Given the description of an element on the screen output the (x, y) to click on. 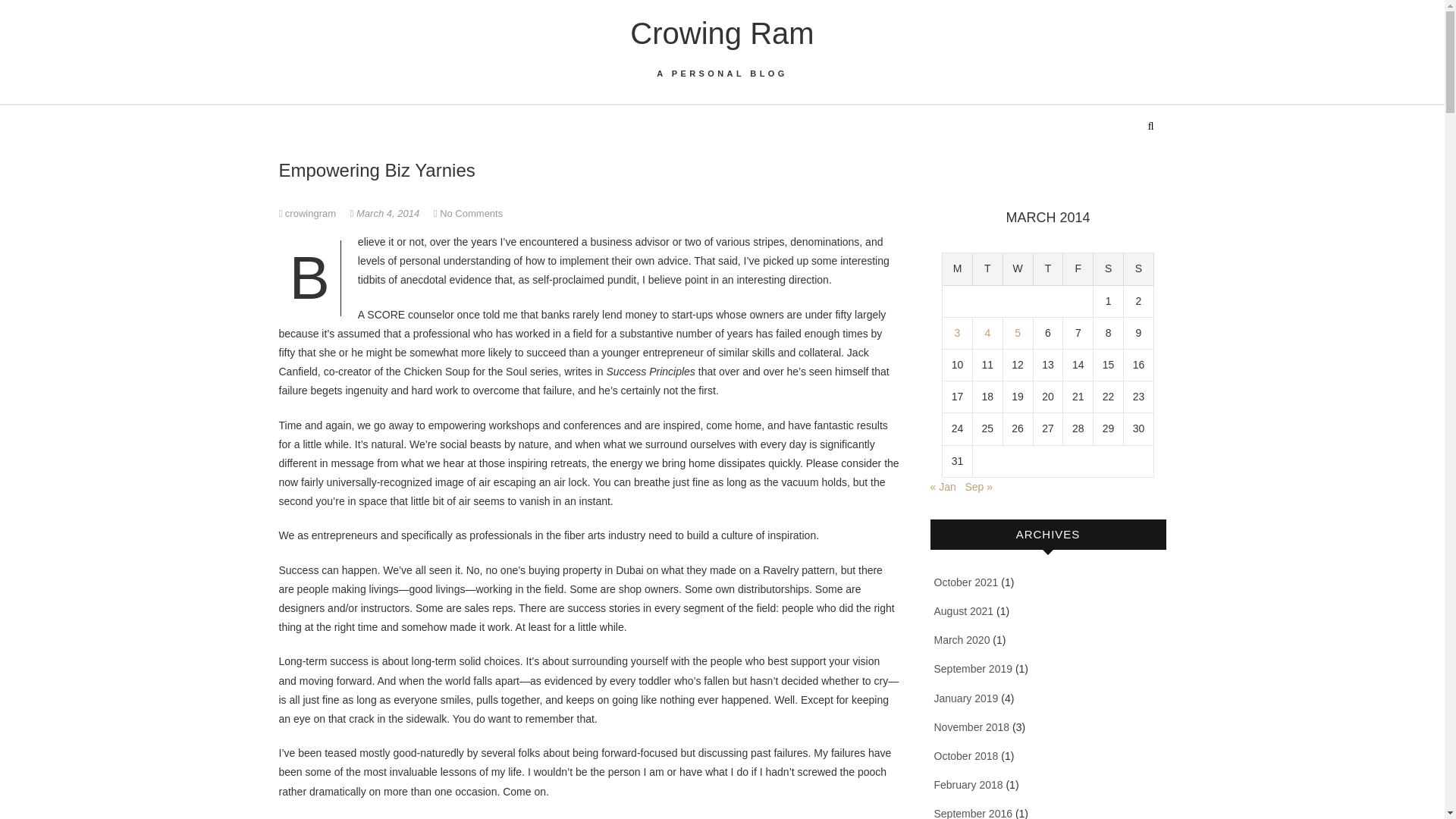
Crowing Ram (721, 33)
No Comments (470, 213)
Thursday (1048, 269)
Saturday (1108, 269)
January 2019 (966, 698)
March 4, 2014 (386, 213)
February 2018 (968, 784)
crowingram (309, 213)
August 2021 (964, 611)
Friday (1077, 269)
